Given the description of an element on the screen output the (x, y) to click on. 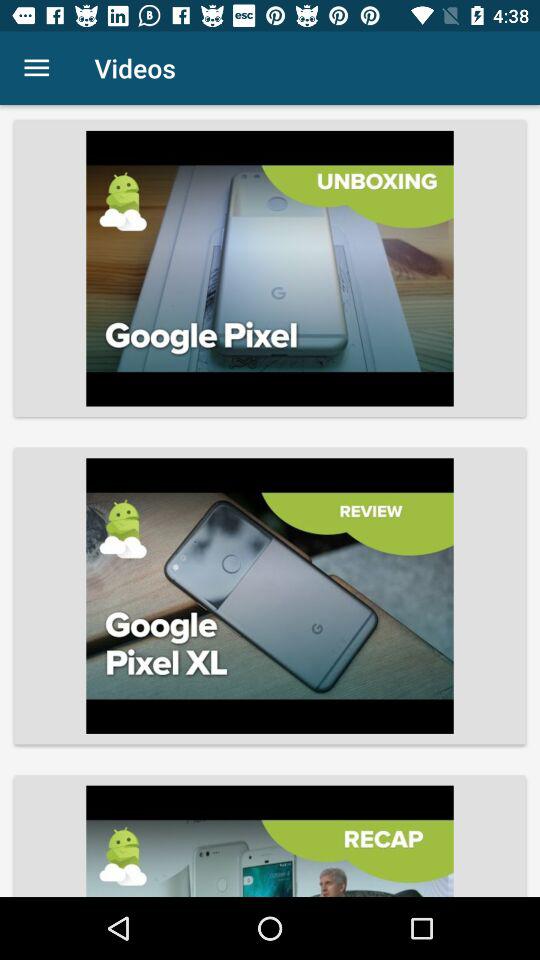
choose item next to videos (36, 68)
